Given the description of an element on the screen output the (x, y) to click on. 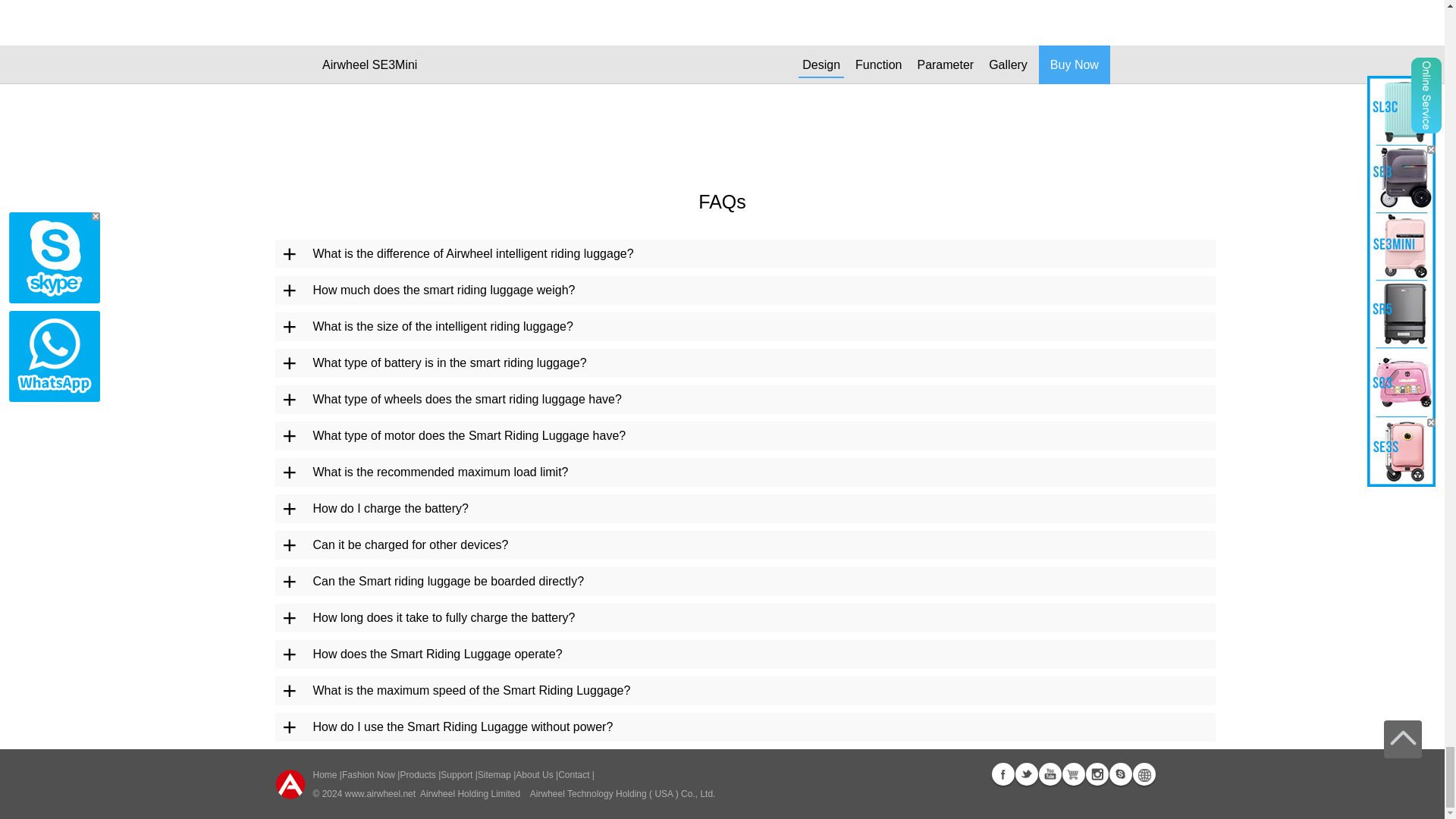
Airwheel Store (1072, 773)
Skype (1119, 773)
Youtube (1050, 773)
Instagram (1097, 773)
Facebook (1002, 773)
Twitter (1025, 773)
Global (1144, 773)
